Given the description of an element on the screen output the (x, y) to click on. 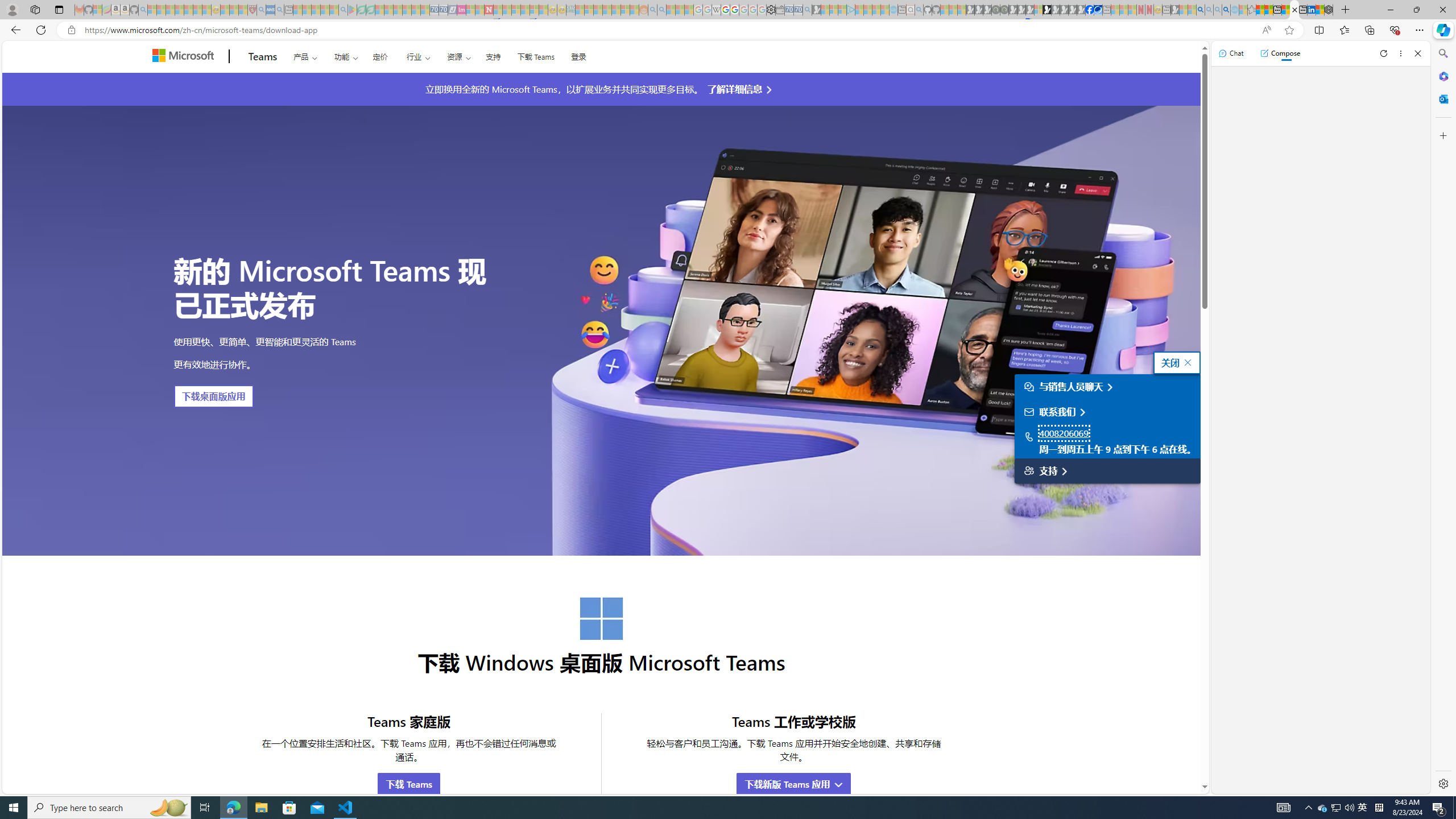
Aberdeen, Hong Kong SAR weather forecast | Microsoft Weather (1268, 9)
github - Search - Sleeping (919, 9)
Microsoft (184, 56)
